Given the description of an element on the screen output the (x, y) to click on. 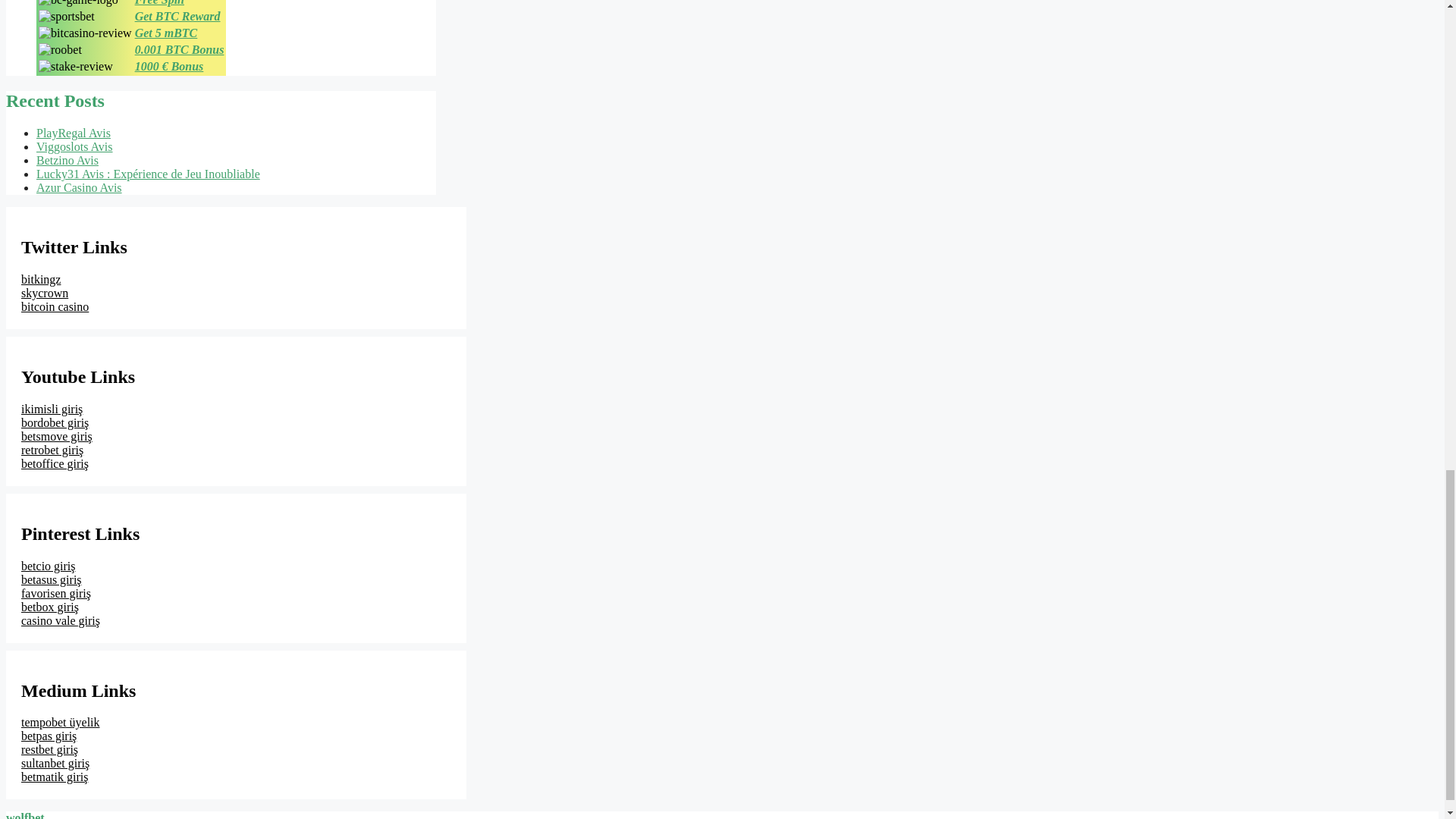
Betzino Avis (67, 160)
skycrown (44, 292)
Free Spin (159, 2)
Get 5 mBTC (166, 32)
Azur Casino Avis (79, 187)
PlayRegal Avis (73, 132)
skycrown (44, 292)
Get BTC Reward (178, 15)
bitcoin casino (54, 306)
Viggoslots Avis (74, 146)
0.001 BTC Bonus (179, 49)
bitkingz (41, 278)
bitcoin casino (54, 306)
bitkingz (41, 278)
